Given the description of an element on the screen output the (x, y) to click on. 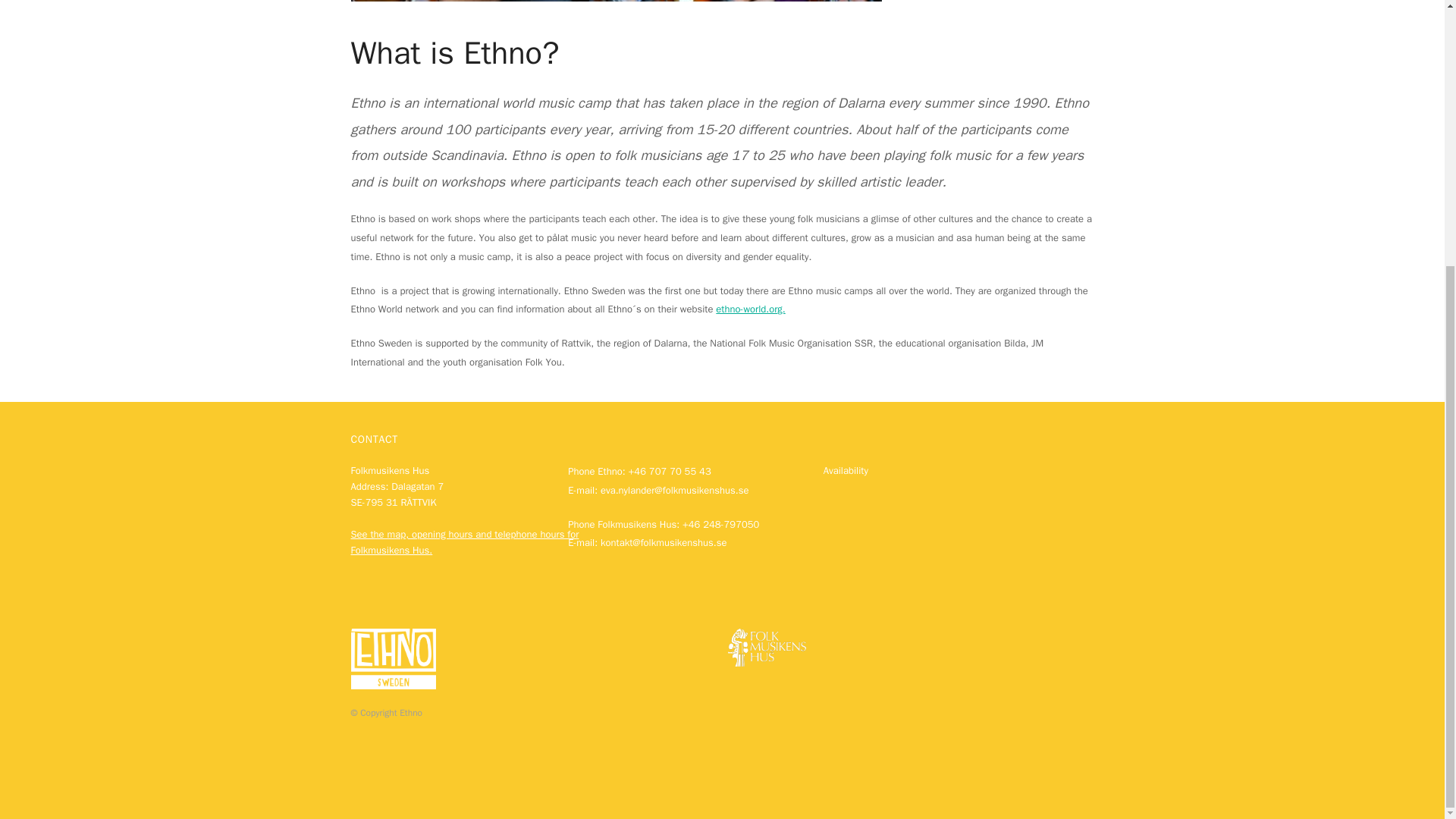
ethno-world.org. (750, 308)
Ethno Hus logotyp (392, 273)
Availability (845, 84)
See the map, opening hours and telephone hours. (464, 156)
